Given the description of an element on the screen output the (x, y) to click on. 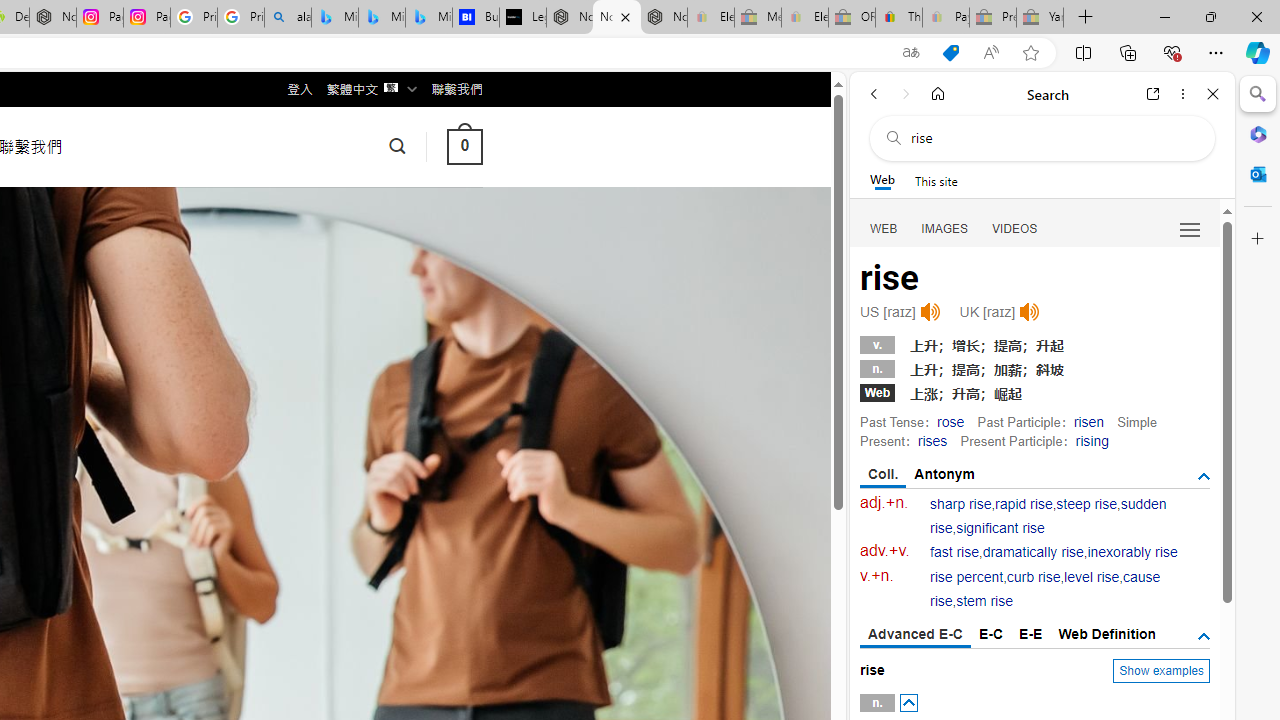
Microsoft Bing Travel - Flights from Hong Kong to Bangkok (335, 17)
stem rise (984, 601)
